Given the description of an element on the screen output the (x, y) to click on. 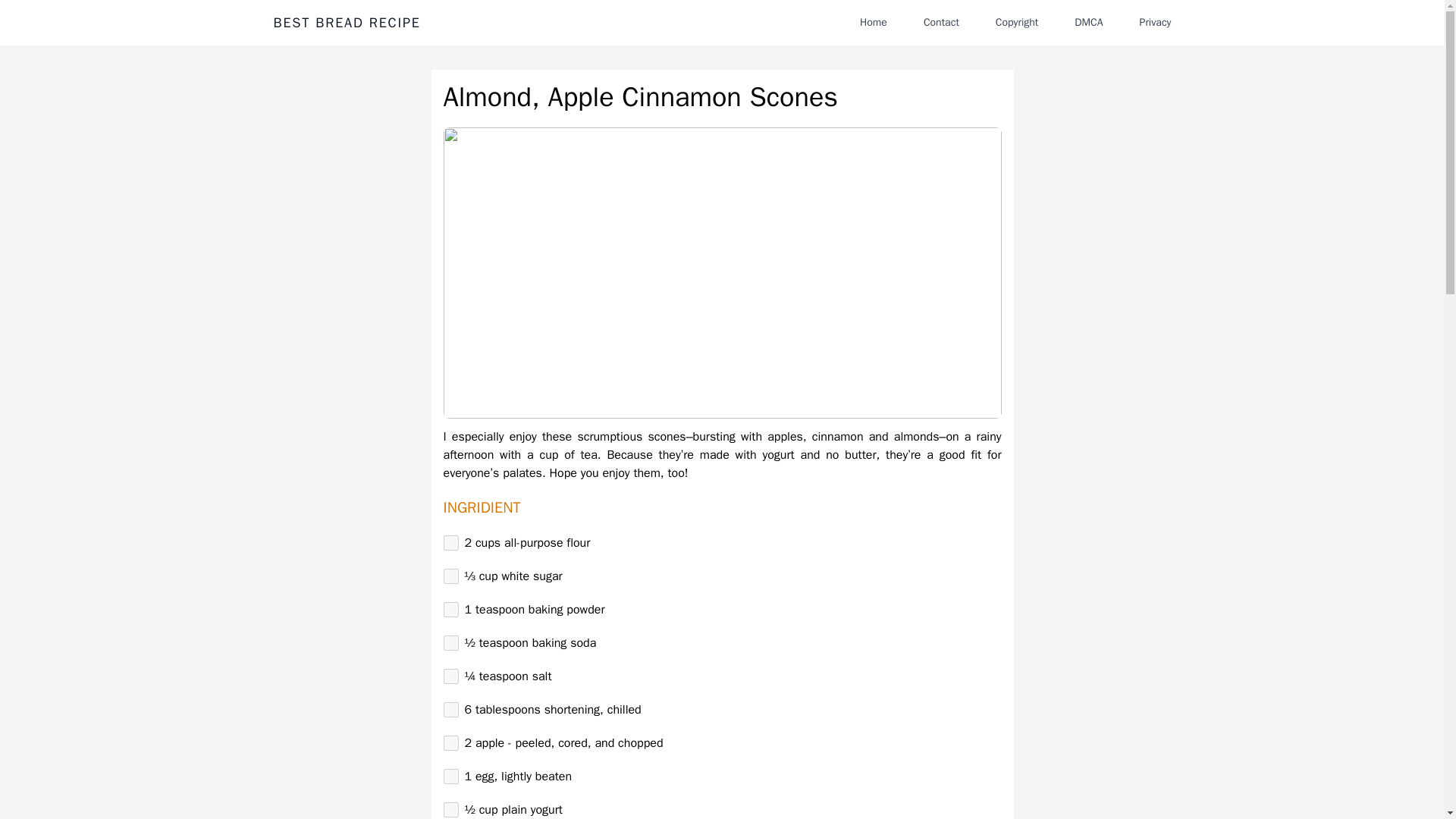
on (450, 542)
on (450, 809)
Copyright (1016, 22)
Contact (941, 22)
Privacy (1154, 22)
on (450, 642)
on (450, 776)
on (450, 709)
on (450, 676)
Home (873, 22)
